Given the description of an element on the screen output the (x, y) to click on. 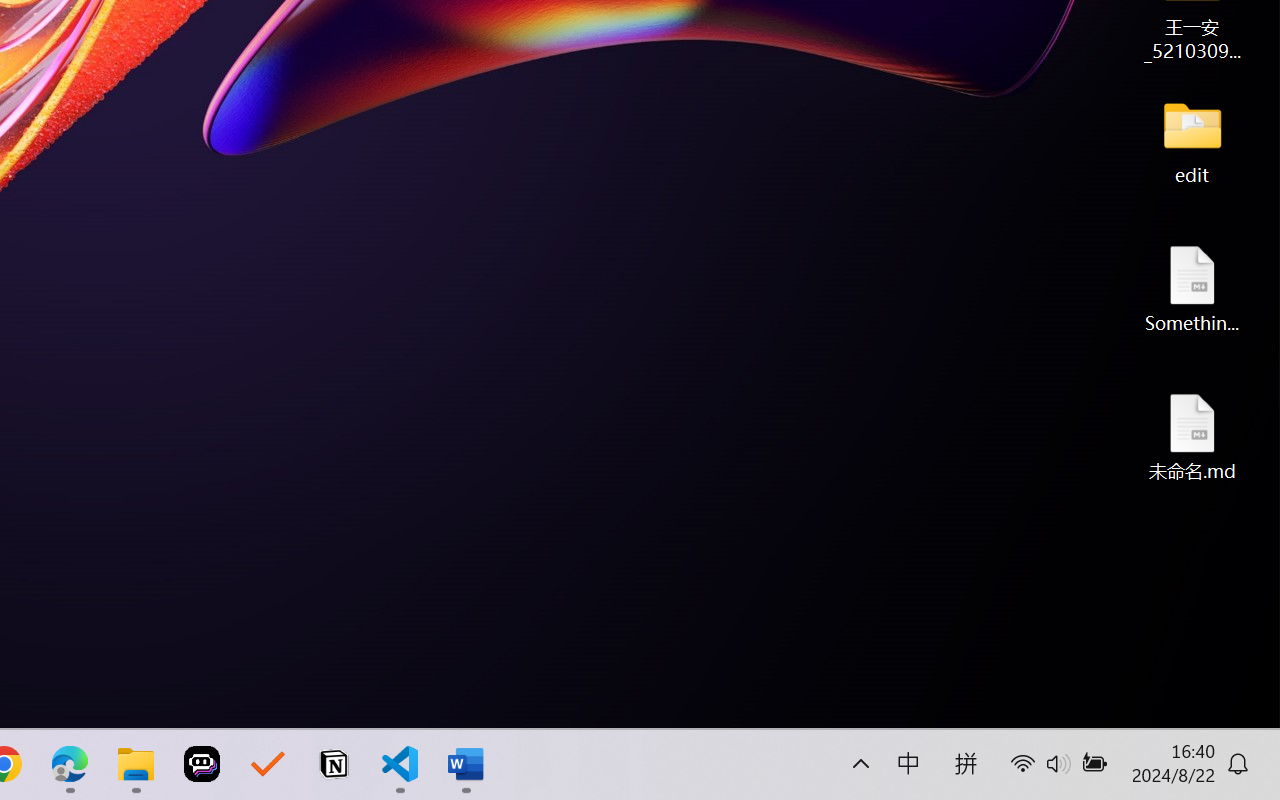
Notion (333, 764)
edit (1192, 140)
